Given the description of an element on the screen output the (x, y) to click on. 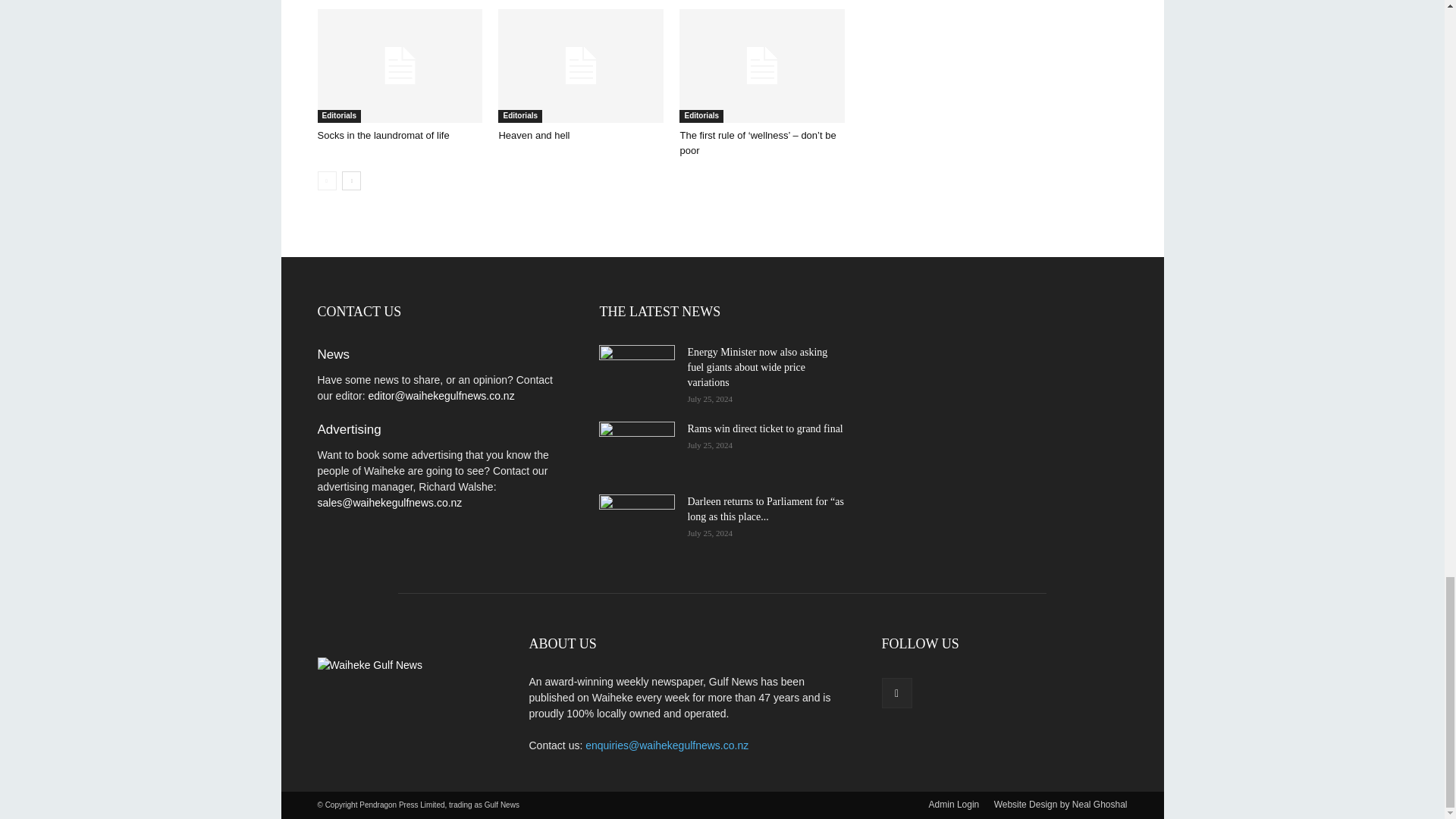
Socks in the laundromat of life (399, 65)
